Given the description of an element on the screen output the (x, y) to click on. 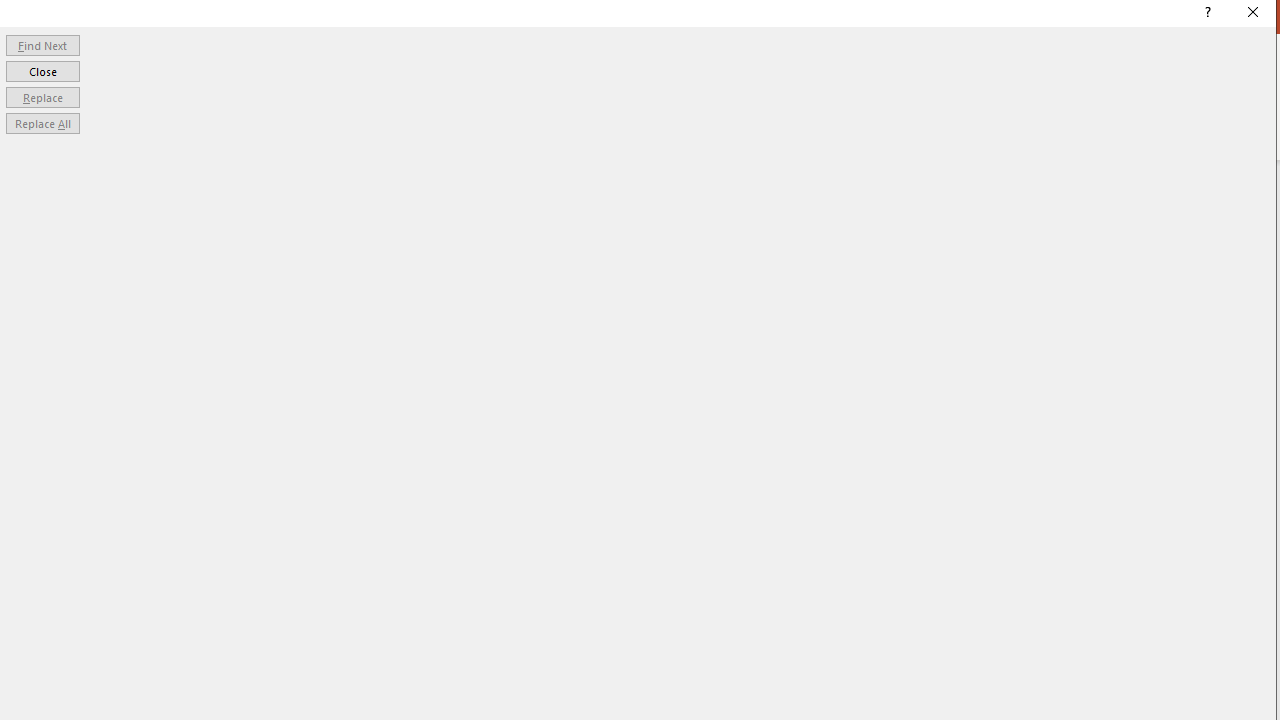
Find Next (42, 44)
Replace All (42, 123)
Replace (42, 96)
Context help (1206, 14)
